Given the description of an element on the screen output the (x, y) to click on. 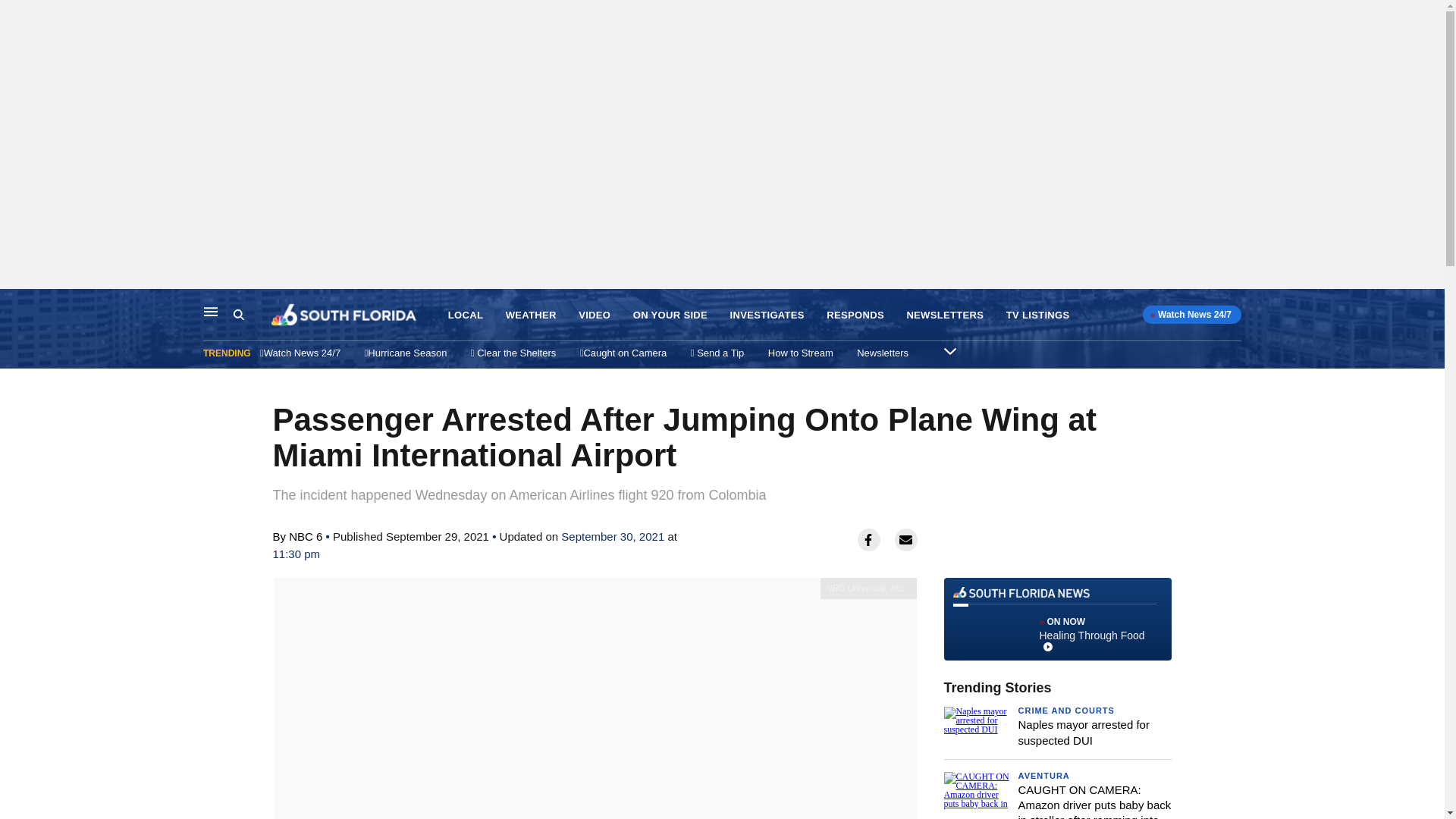
ON YOUR SIDE (670, 315)
Search (252, 314)
TV LISTINGS (1038, 315)
How to Stream (800, 352)
RESPONDS (855, 315)
AVENTURA (1042, 775)
Search (238, 314)
LOCAL (465, 315)
CRIME AND COURTS (1065, 709)
